Given the description of an element on the screen output the (x, y) to click on. 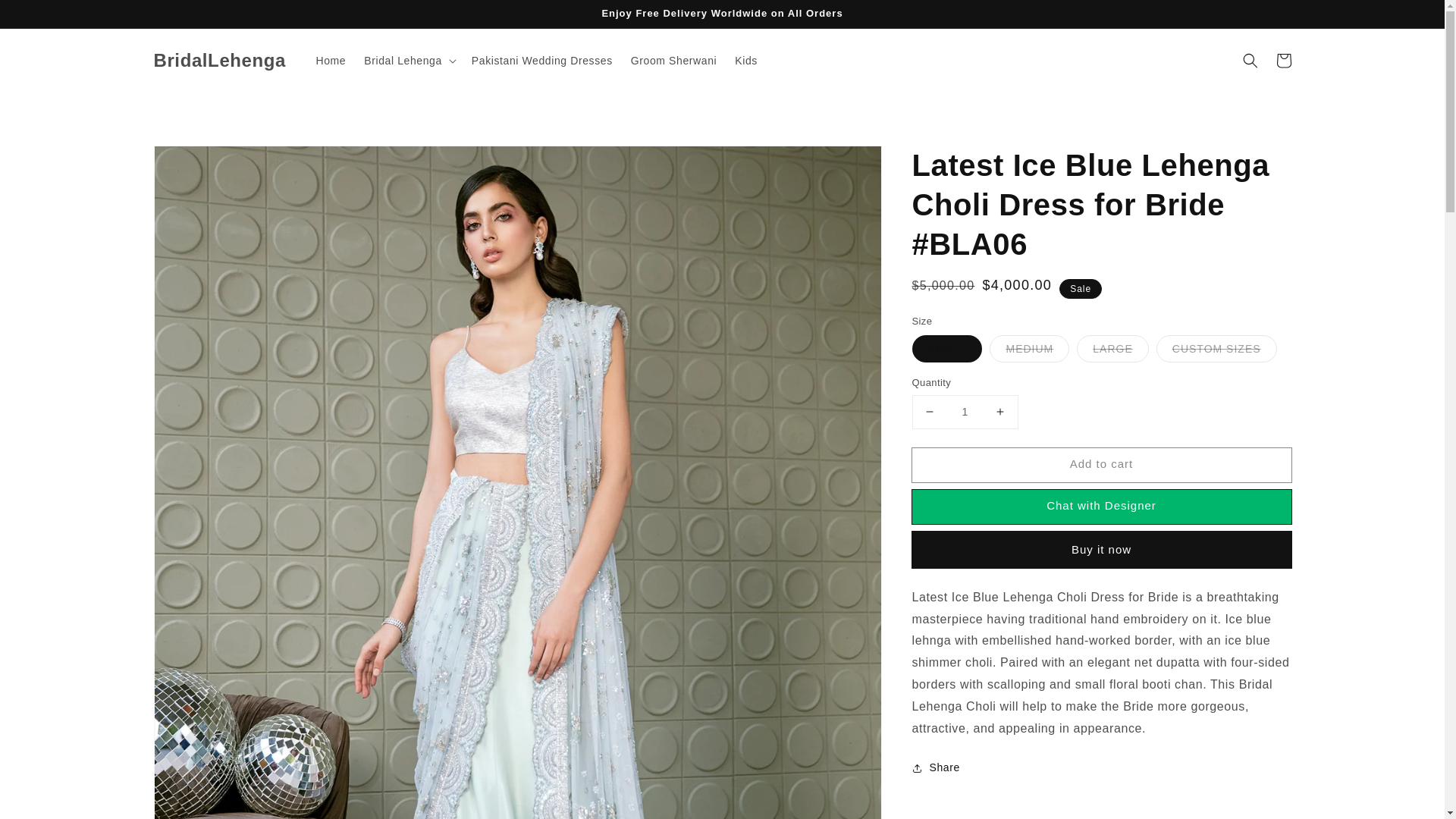
Skip to product information (198, 161)
Chat with Designer (1100, 506)
Home (330, 60)
1 (964, 411)
Add to cart (1100, 464)
Groom Sherwani (673, 60)
BridalLehenga (220, 60)
Pakistani Wedding Dresses (542, 60)
Skip to content (45, 16)
Buy it now (1100, 549)
